Given the description of an element on the screen output the (x, y) to click on. 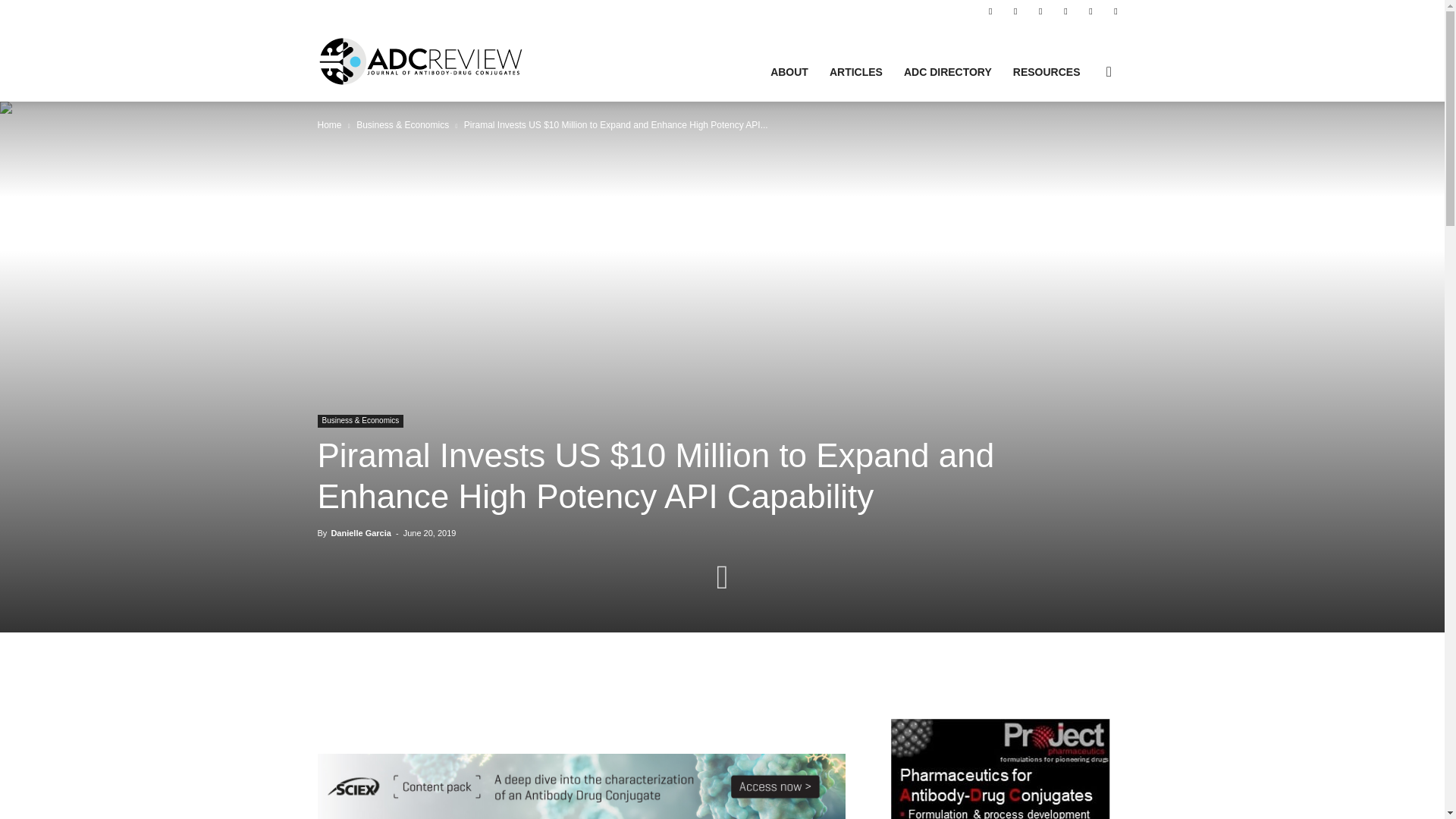
Xing (1114, 10)
Journal of Antibody-Drug Conjugates (419, 60)
Twitter (1065, 10)
Facebook (989, 10)
Linkedin (1015, 10)
Vimeo (1090, 10)
Soundcloud (1040, 10)
